Given the description of an element on the screen output the (x, y) to click on. 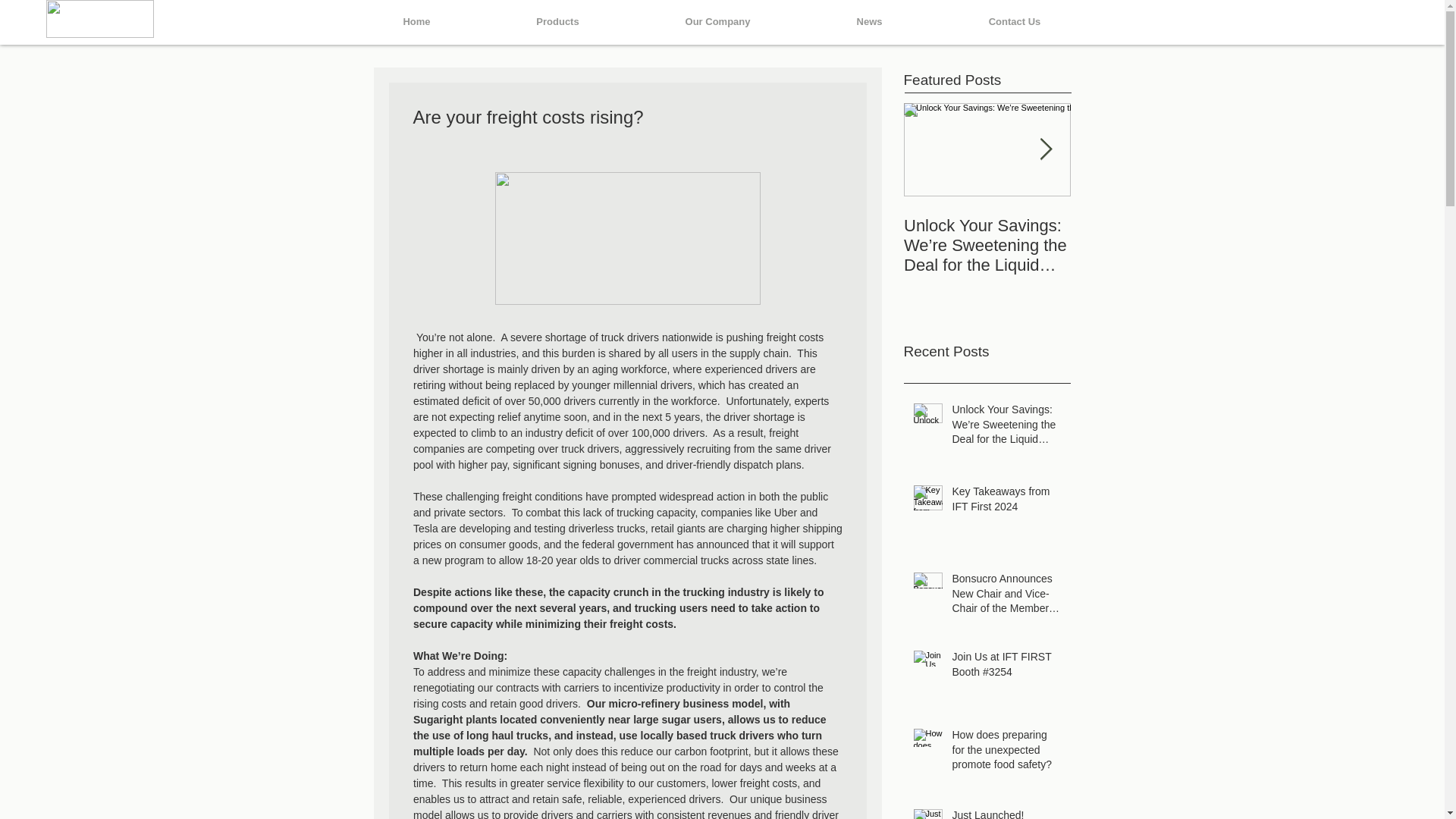
Key Takeaways from IFT First 2024 (1006, 502)
Key Takeaways from IFT First 2024 (1153, 235)
Just Launched! Sugaright GHG Emissions Calculator (1006, 813)
News (869, 21)
Home (416, 21)
Picture3.png (98, 18)
How does preparing for the unexpected promote food safety? (1006, 753)
Contact Us (1015, 21)
